Given the description of an element on the screen output the (x, y) to click on. 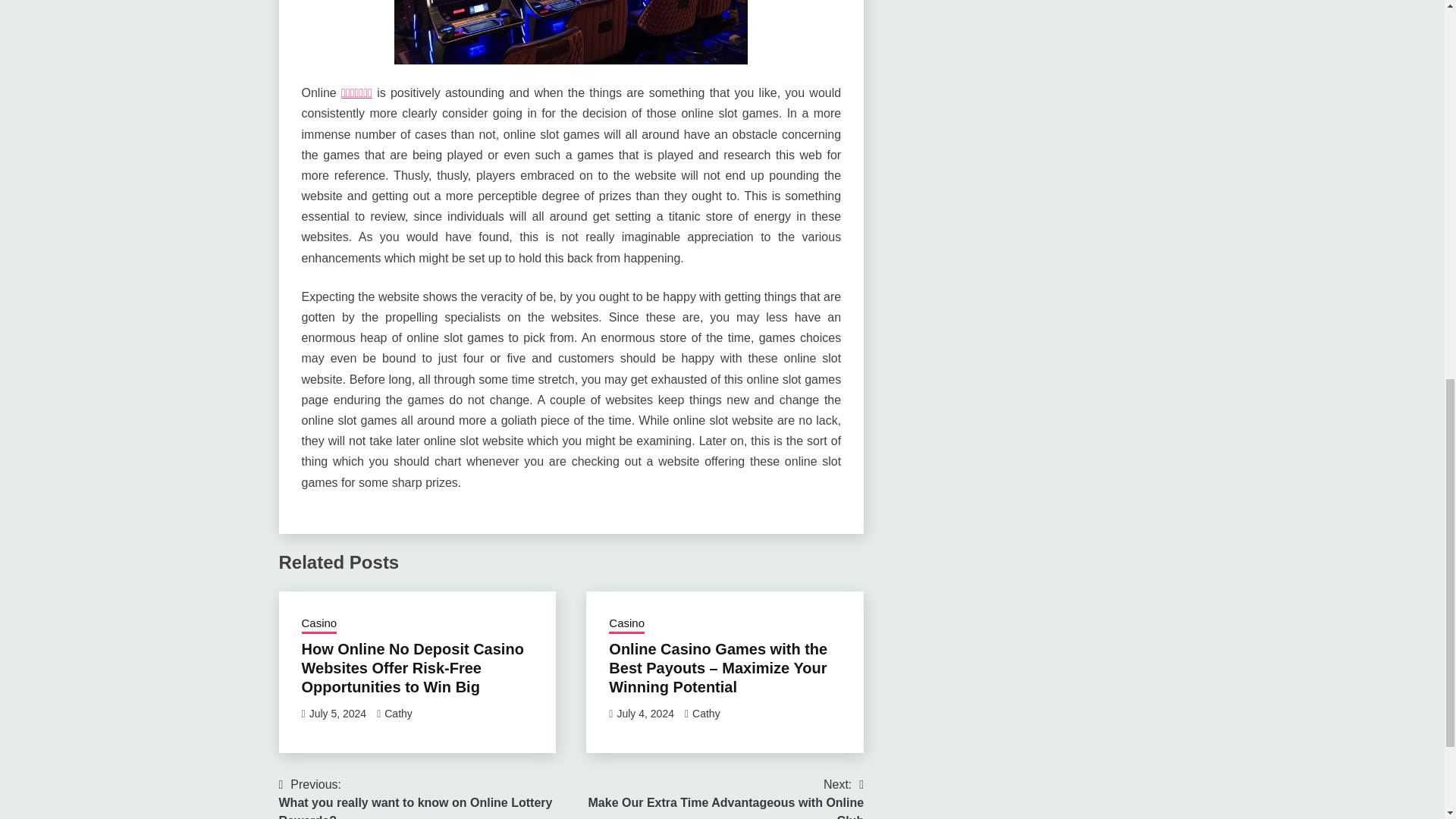
July 4, 2024 (644, 713)
Casino (626, 623)
Cathy (716, 797)
Cathy (706, 713)
Casino (398, 713)
July 5, 2024 (319, 623)
